Given the description of an element on the screen output the (x, y) to click on. 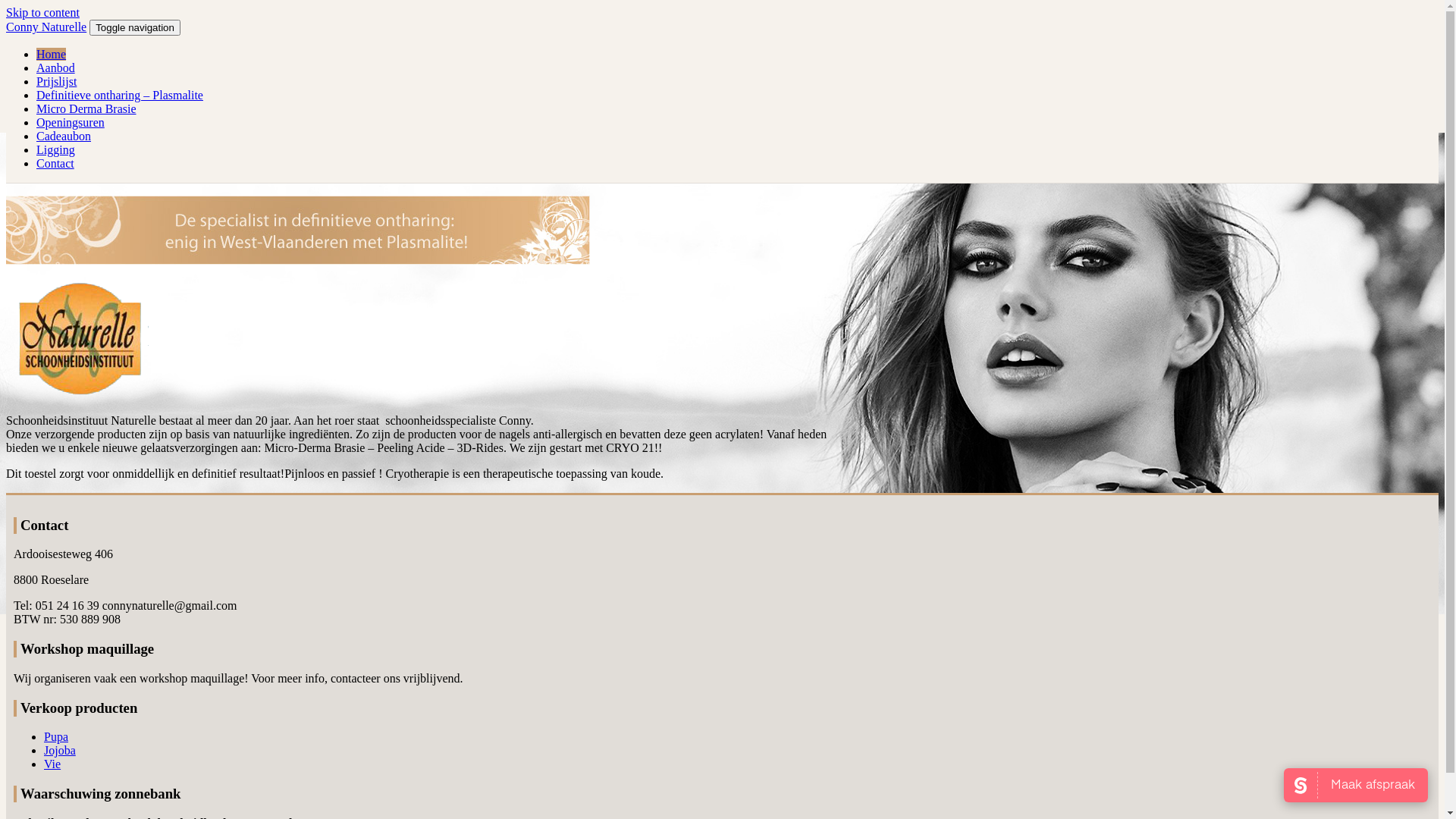
Micro Derma Brasie Element type: text (86, 108)
Contact Element type: text (55, 162)
Prijslijst Element type: text (56, 81)
Jojoba Element type: text (59, 749)
Pupa Element type: text (55, 736)
Ligging Element type: text (55, 149)
Aanbod Element type: text (55, 67)
Toggle navigation Element type: text (134, 27)
Vie Element type: text (51, 763)
Skip to content Element type: text (42, 12)
Openingsuren Element type: text (70, 122)
Home Element type: text (50, 53)
Conny Naturelle Element type: text (46, 26)
Cadeaubon Element type: text (63, 135)
